Given the description of an element on the screen output the (x, y) to click on. 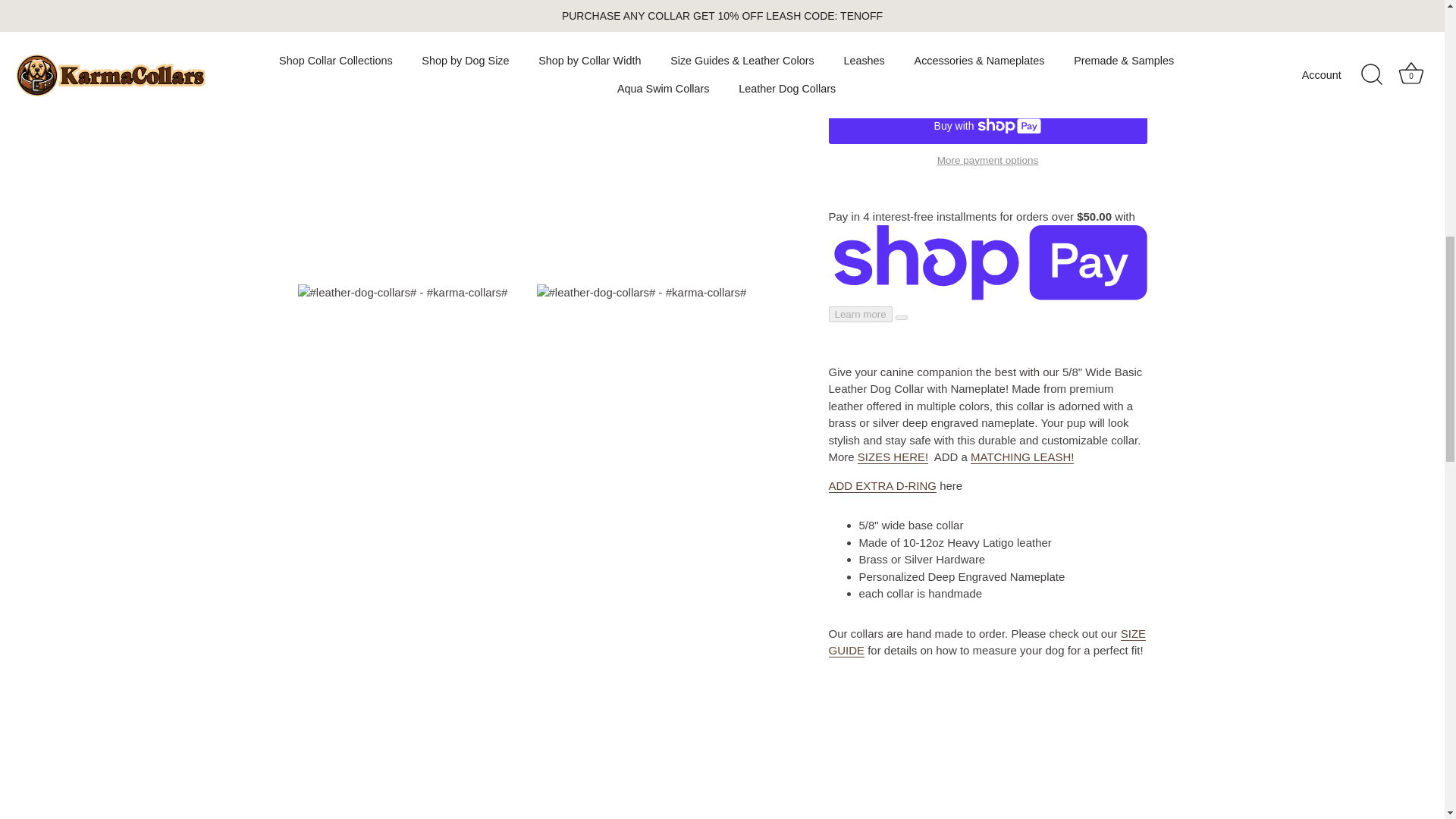
matching leash (1022, 332)
personalized dog collars with nameplates (892, 332)
add extra d ring to collar (882, 361)
